Given the description of an element on the screen output the (x, y) to click on. 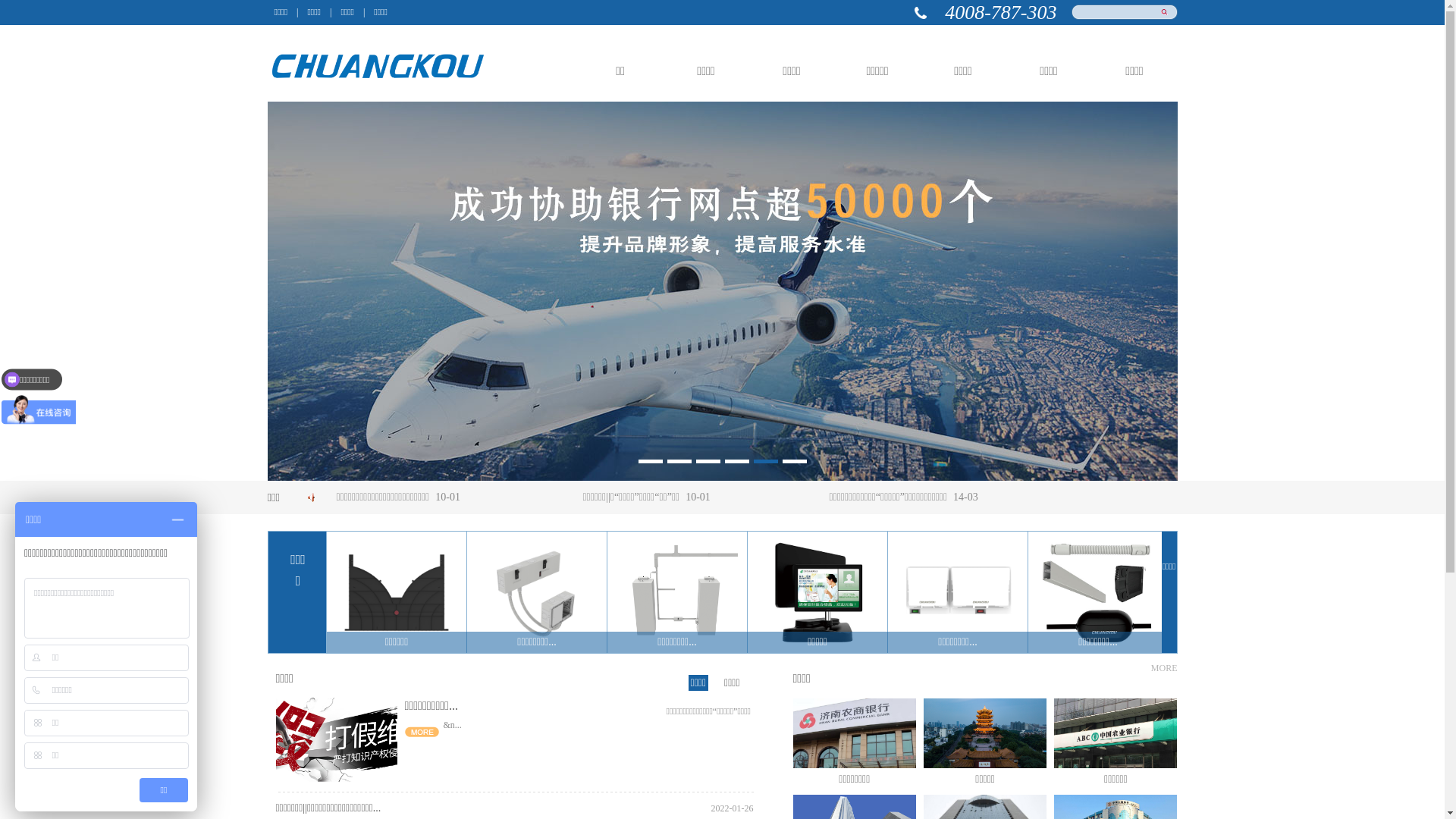
MORE Element type: text (1164, 668)
4008-787-303 Element type: text (1000, 12)
